Given the description of an element on the screen output the (x, y) to click on. 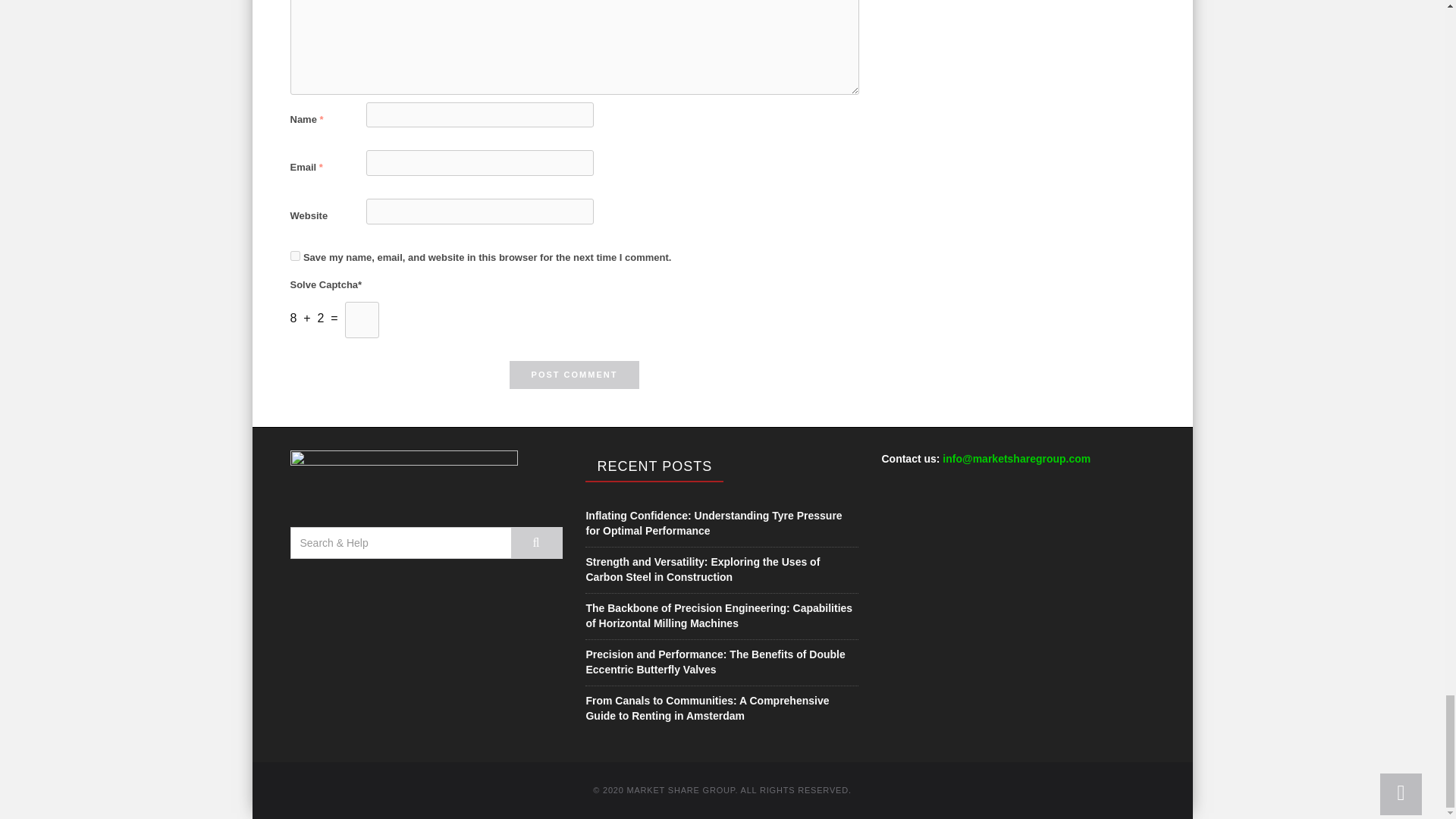
yes (294, 255)
Post Comment (574, 375)
Search for: (400, 542)
Post Comment (574, 375)
